Given the description of an element on the screen output the (x, y) to click on. 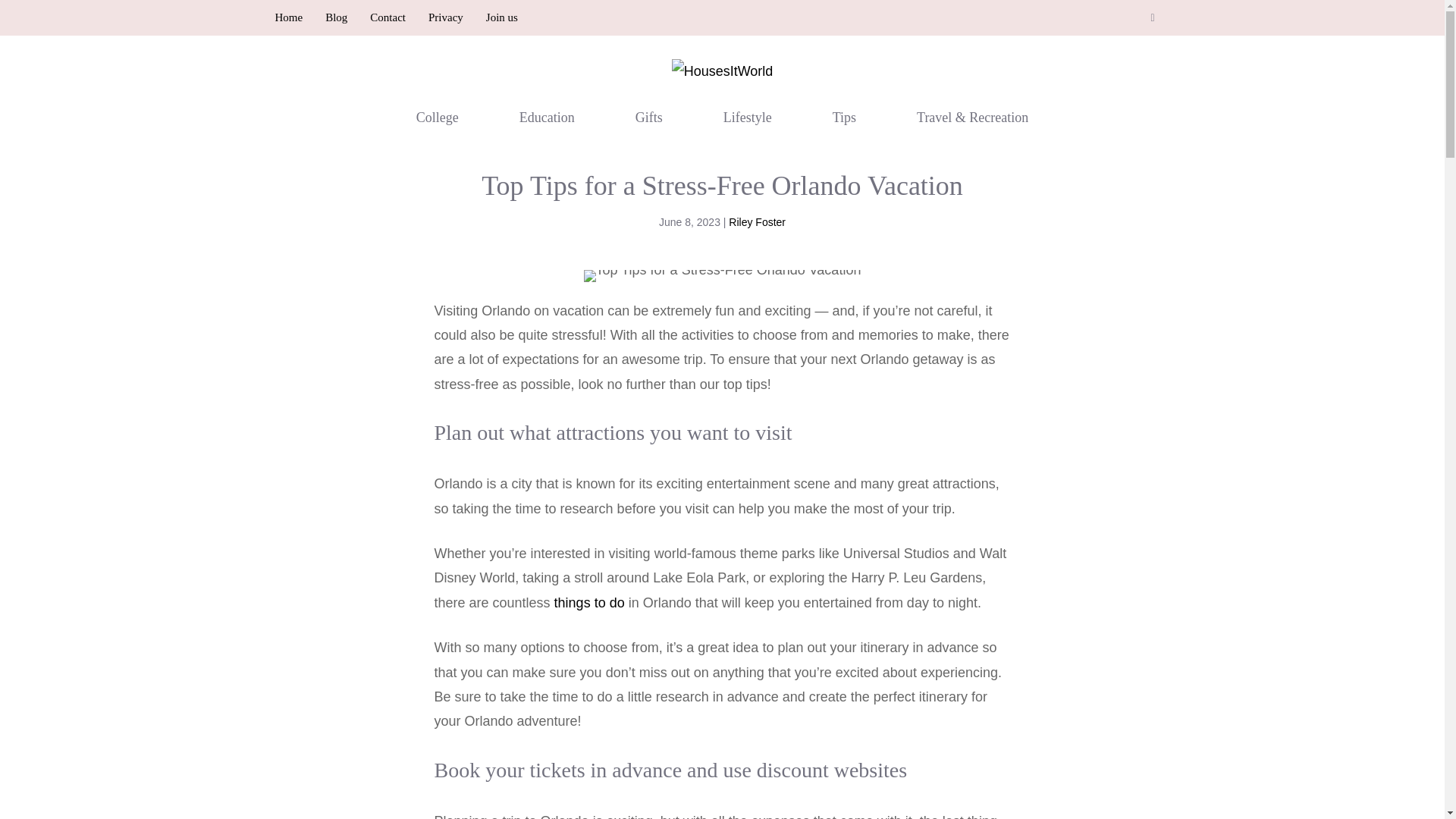
College (437, 117)
things to do (589, 602)
View all posts by Riley Foster (757, 222)
Education (547, 117)
Gifts (649, 117)
Privacy (445, 17)
Blog (335, 17)
Lifestyle (747, 117)
Join us (502, 17)
Riley Foster (757, 222)
Contact (387, 17)
Home (288, 17)
Instagram (1152, 18)
Tips (844, 117)
